Given the description of an element on the screen output the (x, y) to click on. 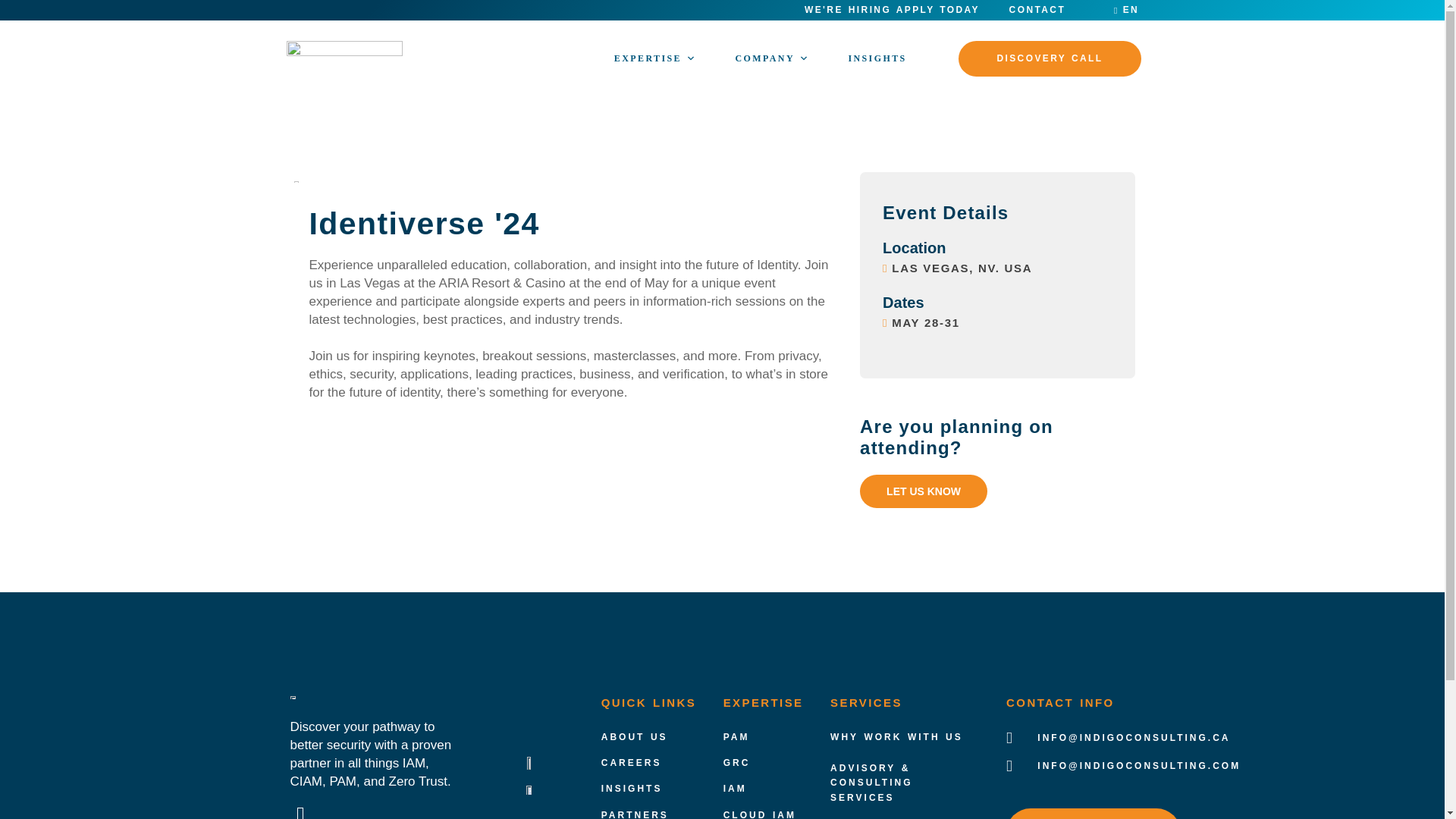
INSIGHTS (876, 57)
CONTACT (1037, 9)
EXPERTISE (655, 57)
COMPANY (772, 57)
WE'RE HIRING APPLY TODAY (892, 9)
EN (1126, 10)
